Given the description of an element on the screen output the (x, y) to click on. 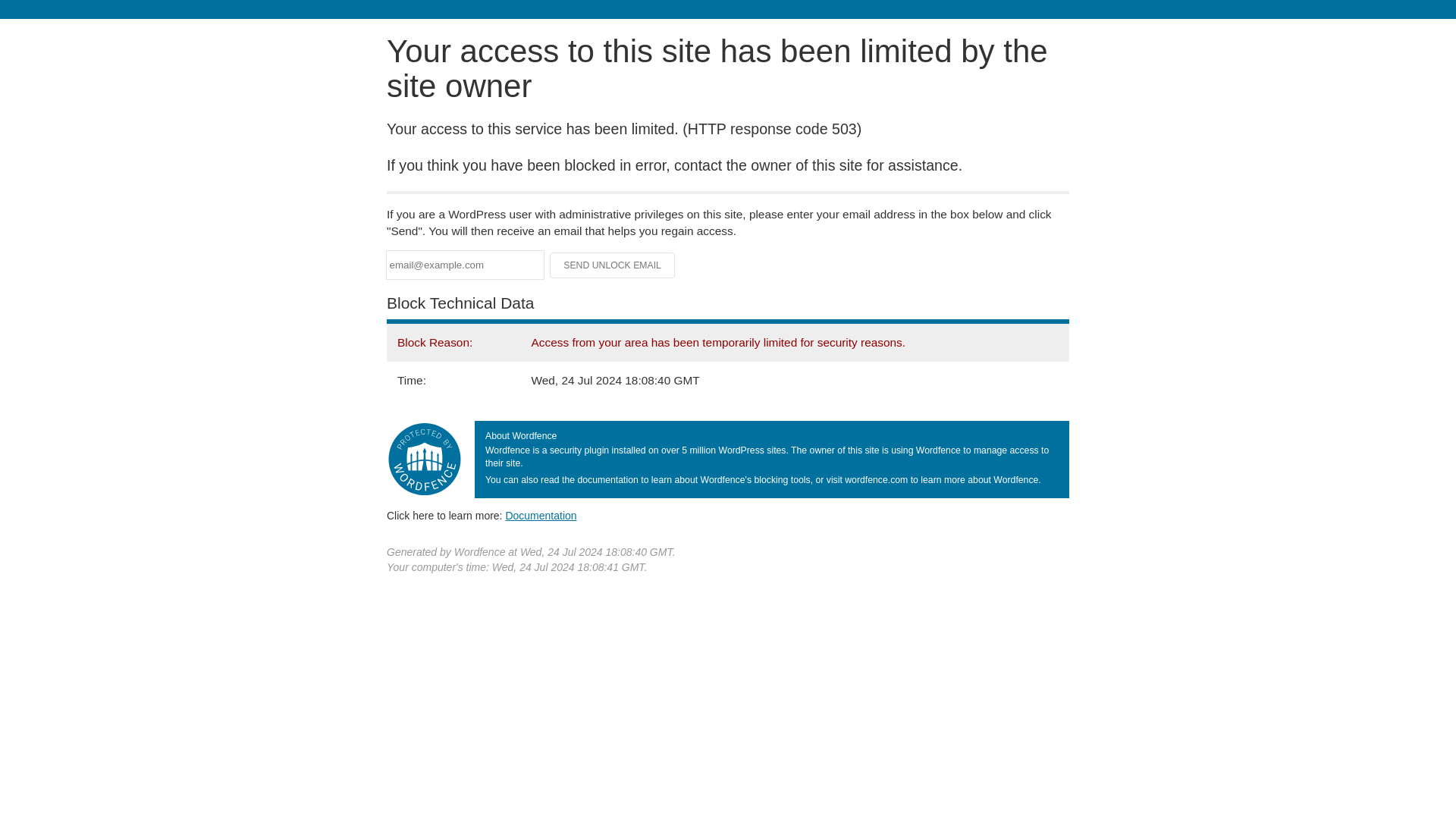
Documentation (540, 515)
Send Unlock Email (612, 265)
Send Unlock Email (612, 265)
